Given the description of an element on the screen output the (x, y) to click on. 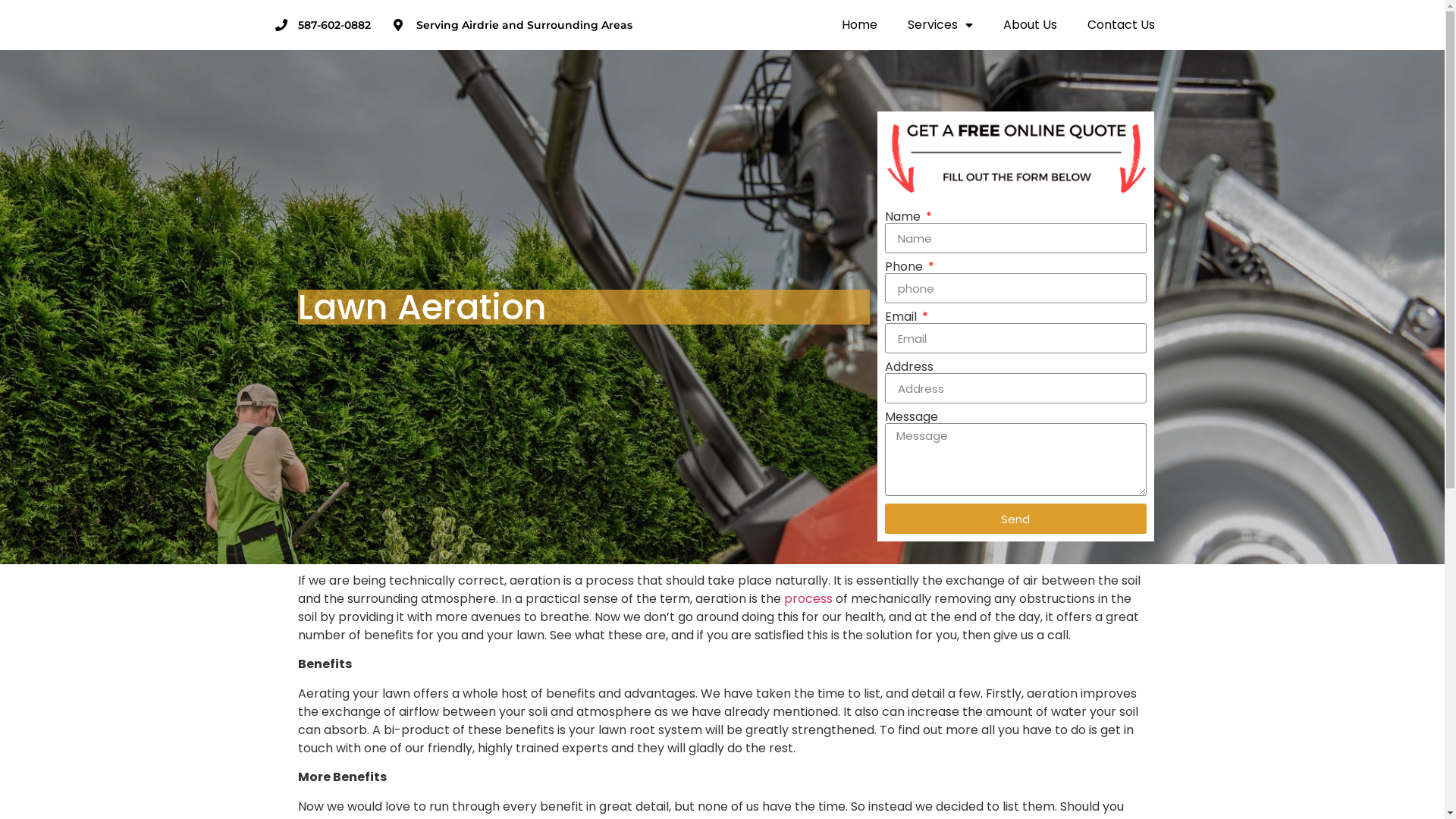
Services Element type: text (939, 24)
587-602-0882 Element type: text (322, 24)
Send Element type: text (1014, 518)
Contact Us Element type: text (1121, 24)
Home Element type: text (859, 24)
About Us Element type: text (1029, 24)
process Element type: text (808, 598)
